Given the description of an element on the screen output the (x, y) to click on. 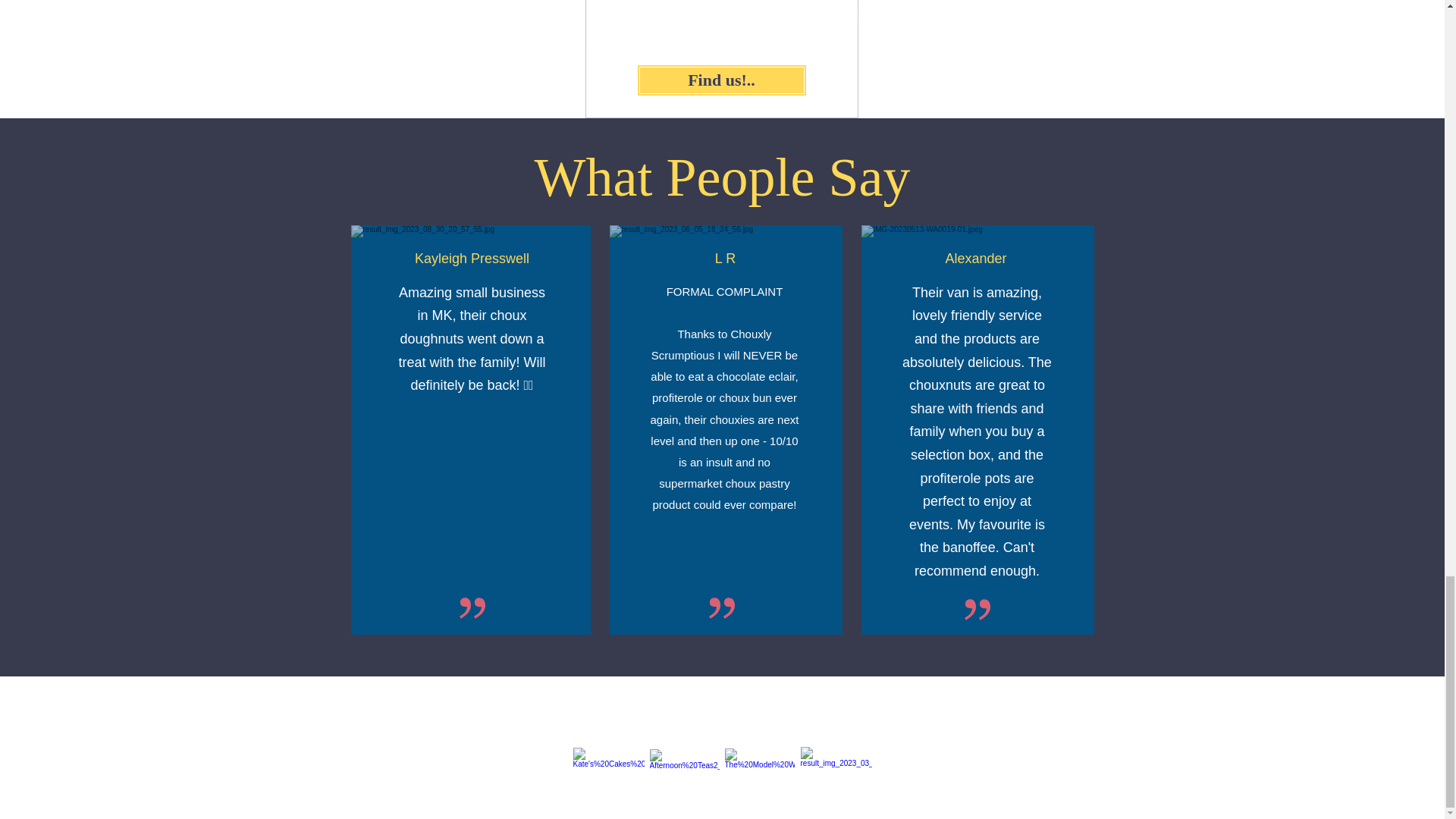
Find us!.. (721, 80)
